Given the description of an element on the screen output the (x, y) to click on. 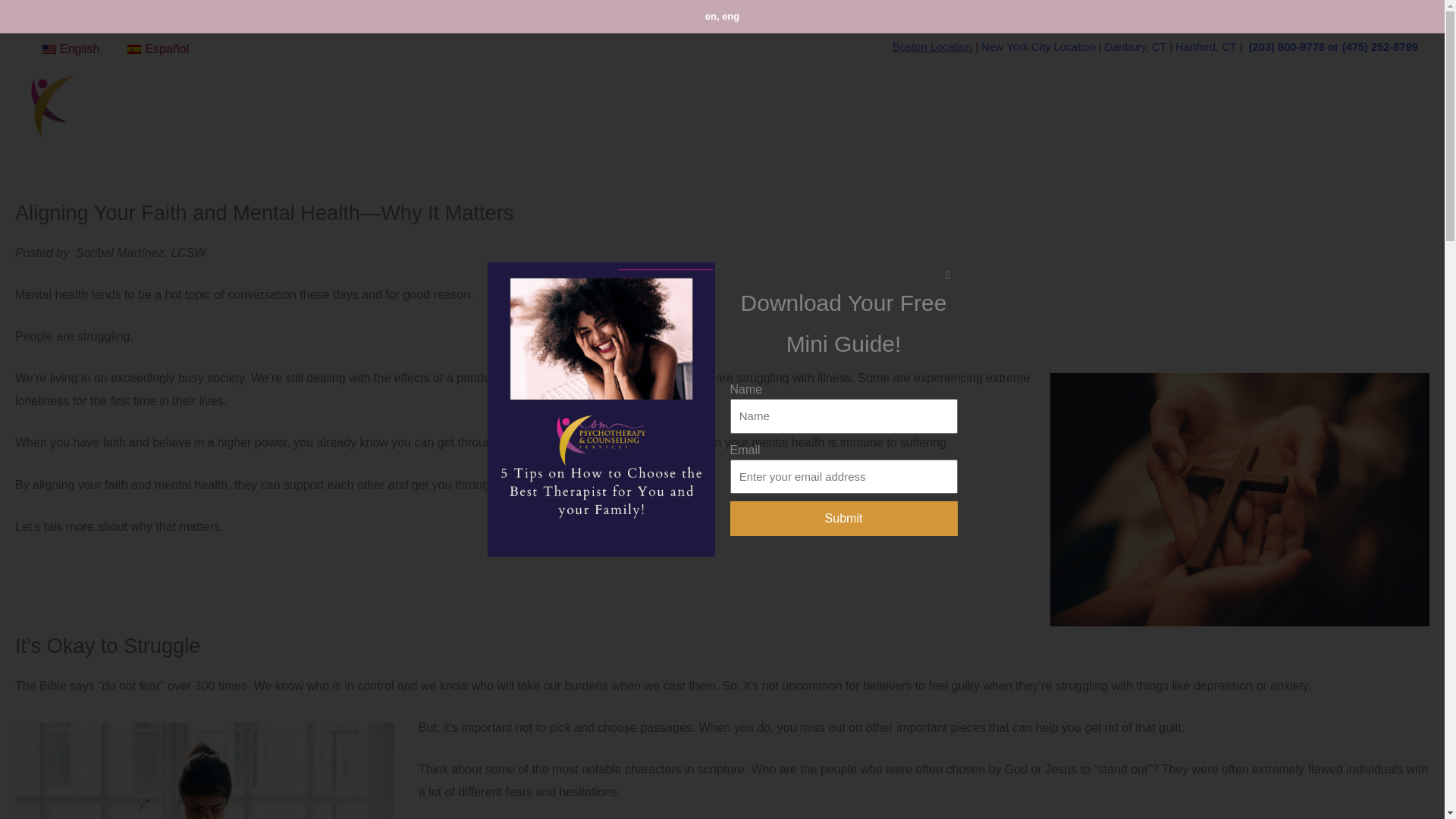
New York City Location (1038, 46)
English (69, 49)
anbury, CT (1139, 46)
English (49, 49)
Boston Location (932, 46)
INDIVIDUALS (853, 105)
HOME (786, 105)
Hartford, CT (1205, 46)
